Given the description of an element on the screen output the (x, y) to click on. 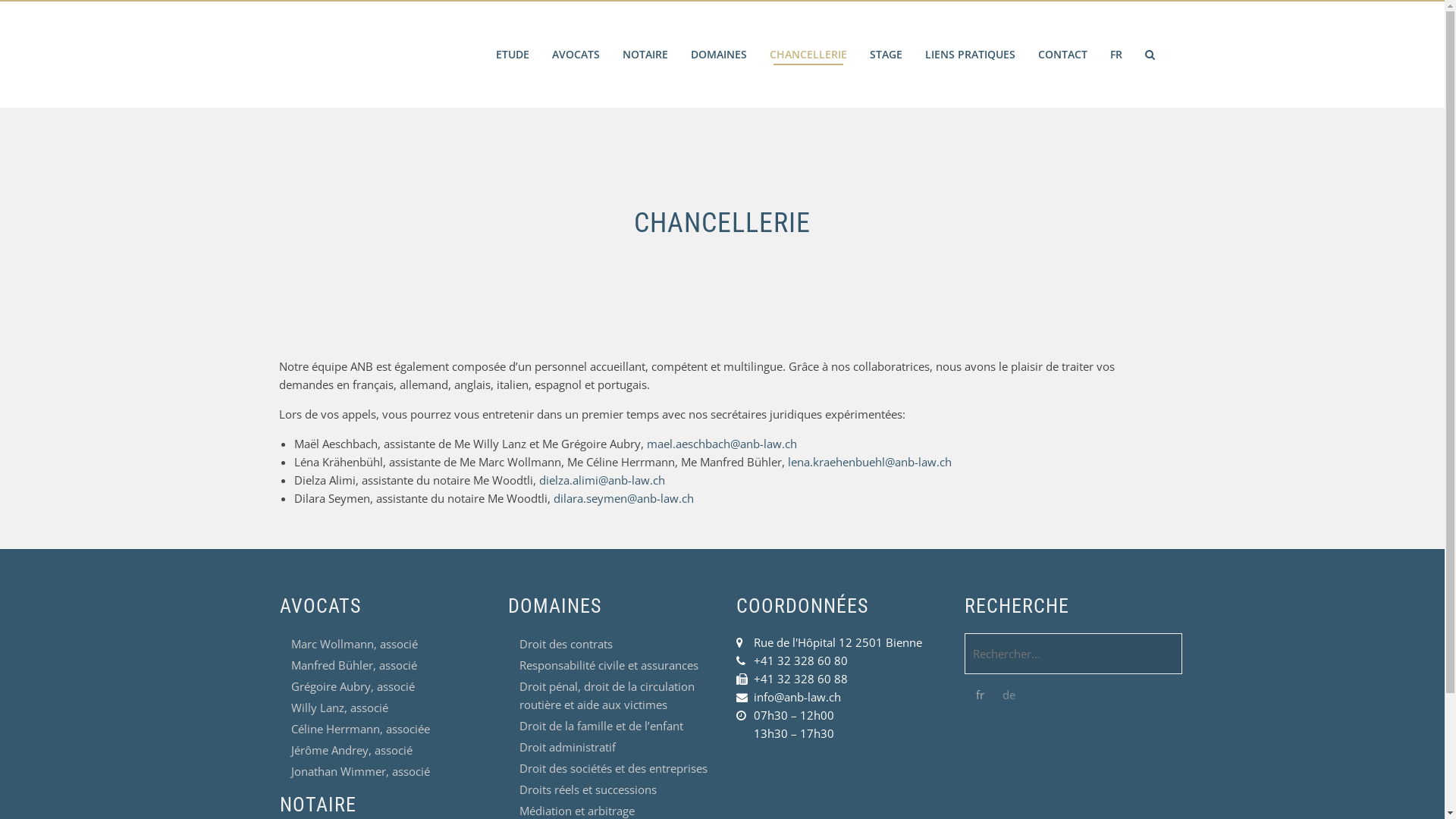
AVOCATS Element type: text (574, 53)
CONTACT Element type: text (1062, 53)
Droit administratif Element type: text (567, 746)
ETUDE Element type: text (511, 53)
FR Element type: text (1115, 53)
DOMAINES Element type: text (718, 53)
dilara.seymen@anb-law.ch Element type: text (623, 497)
Droit des contrats Element type: text (565, 643)
LIENS PRATIQUES Element type: text (969, 53)
fr Element type: text (979, 694)
NOTAIRE Element type: text (645, 53)
lena.kraehenbuehl@anb-law.ch Element type: text (868, 461)
CHANCELLERIE Element type: text (808, 53)
mael.aeschbach@anb-law.ch Element type: text (721, 443)
dielza.alimi@anb-law.ch Element type: text (601, 479)
de Element type: text (1008, 694)
Rechercher Element type: text (44, 13)
STAGE Element type: text (885, 53)
